Given the description of an element on the screen output the (x, y) to click on. 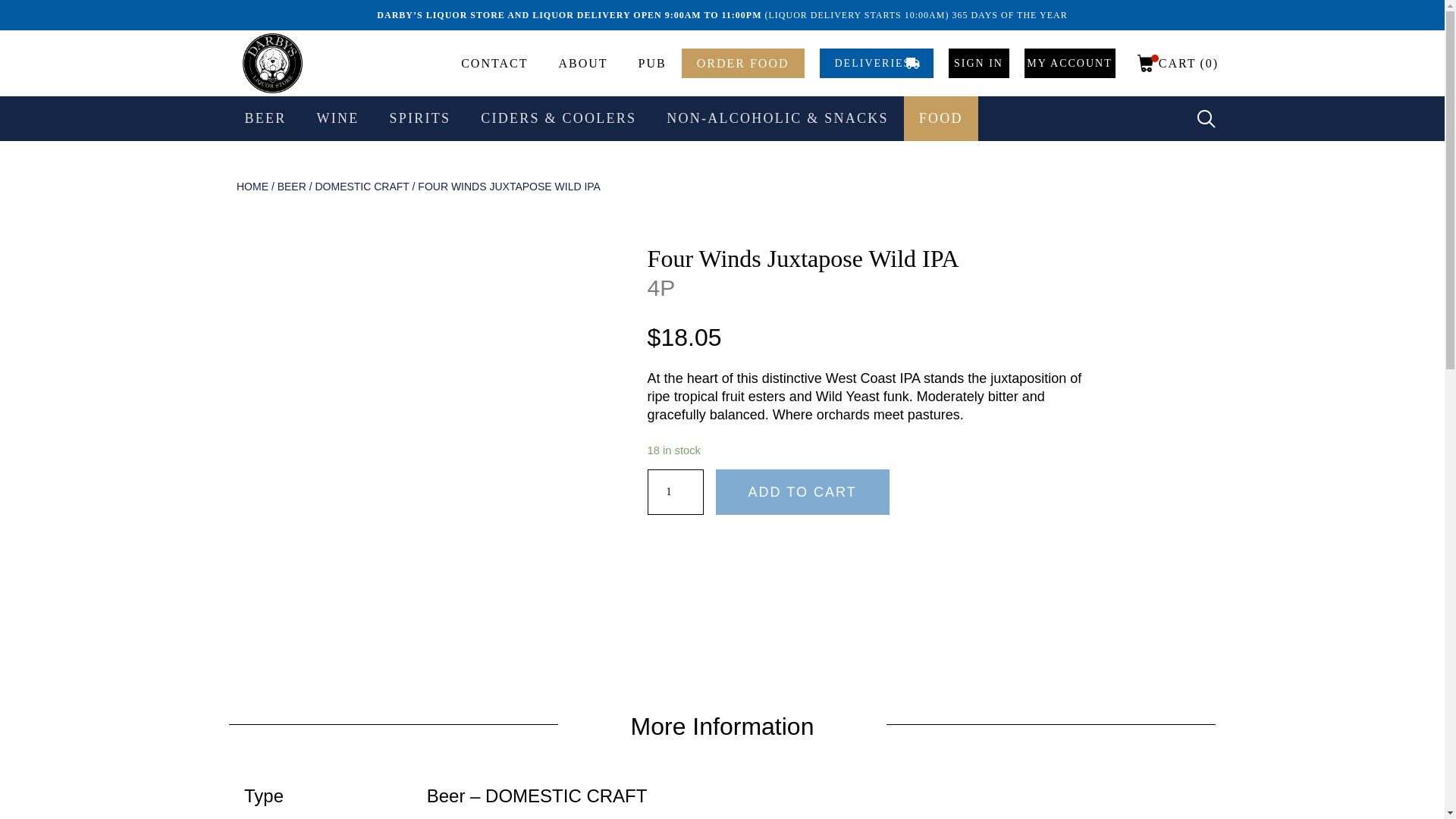
BEER (264, 118)
MY ACCOUNT (1069, 62)
PUB (652, 62)
1 (675, 492)
CONTACT (494, 62)
DELIVERIES (875, 62)
ORDER FOOD (743, 62)
SIGN IN (978, 62)
WINE (337, 118)
Qty (675, 492)
ABOUT (583, 62)
